Given the description of an element on the screen output the (x, y) to click on. 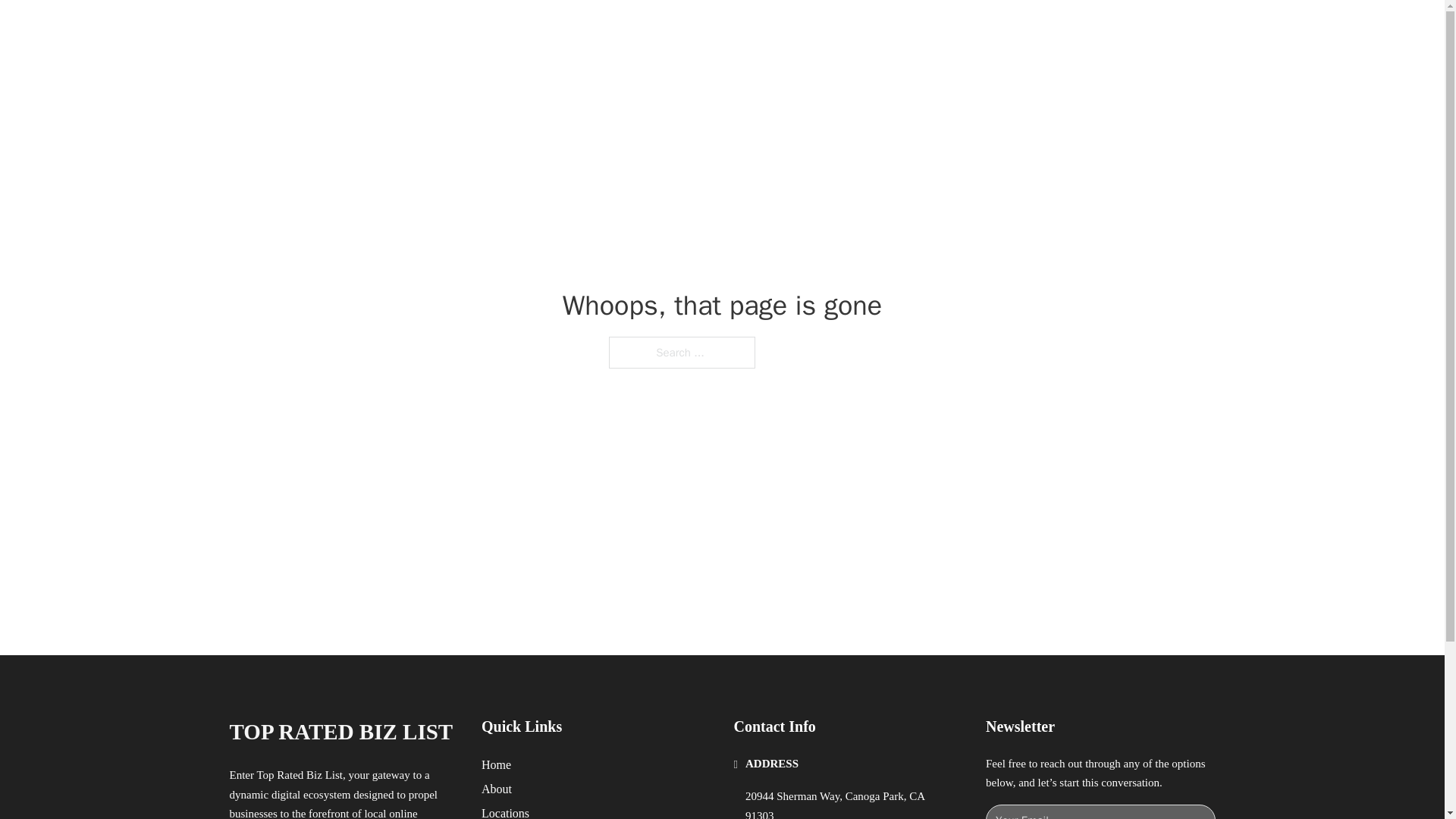
About (496, 788)
LOCATIONS (990, 29)
HOME (919, 29)
TOP RATED BIZ LIST (410, 28)
Home (496, 764)
Locations (505, 811)
TOP RATED BIZ LIST (340, 732)
